Given the description of an element on the screen output the (x, y) to click on. 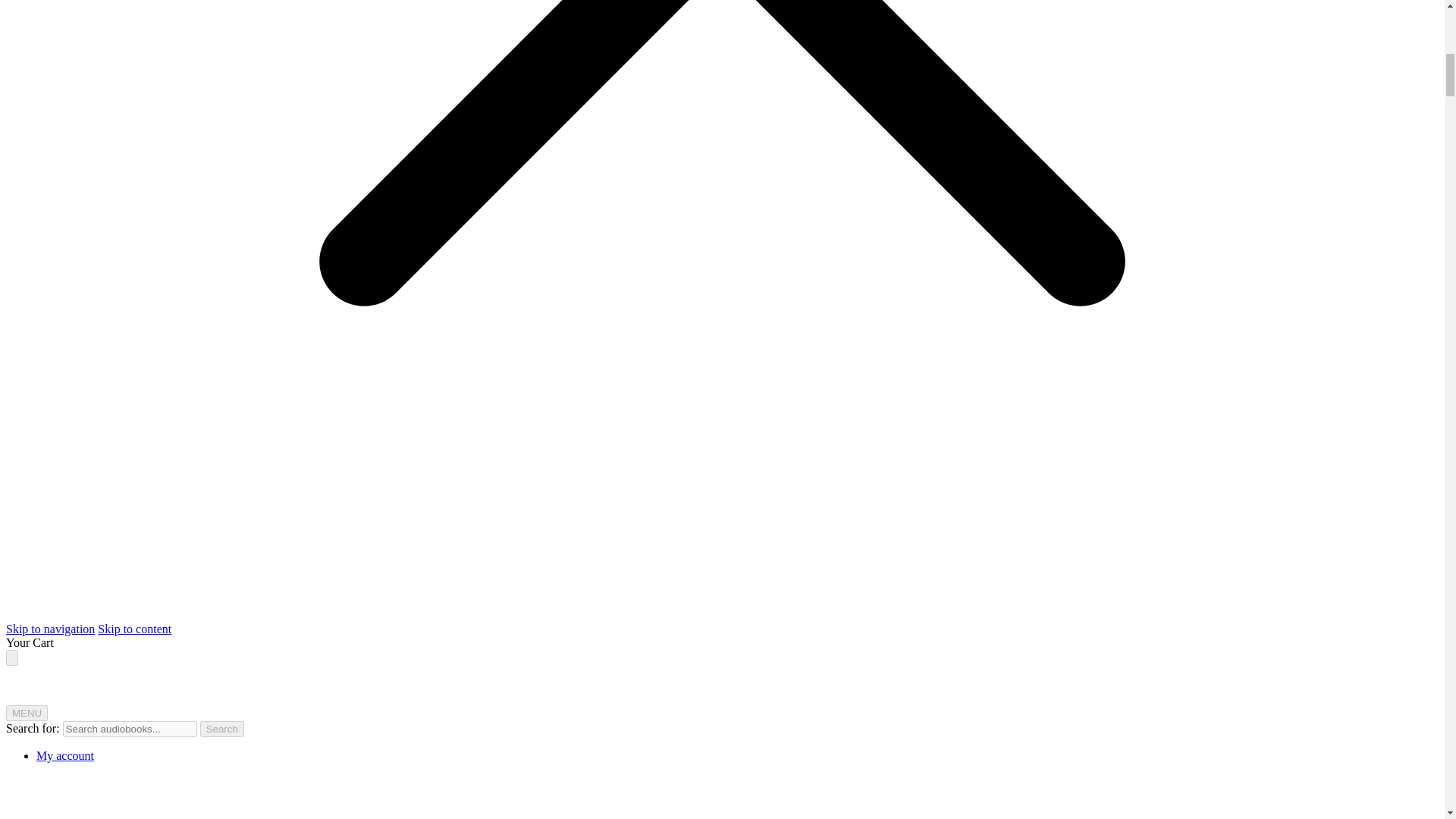
Skip to content (134, 628)
Skip to navigation (49, 628)
MENU (26, 713)
Search (222, 729)
